Given the description of an element on the screen output the (x, y) to click on. 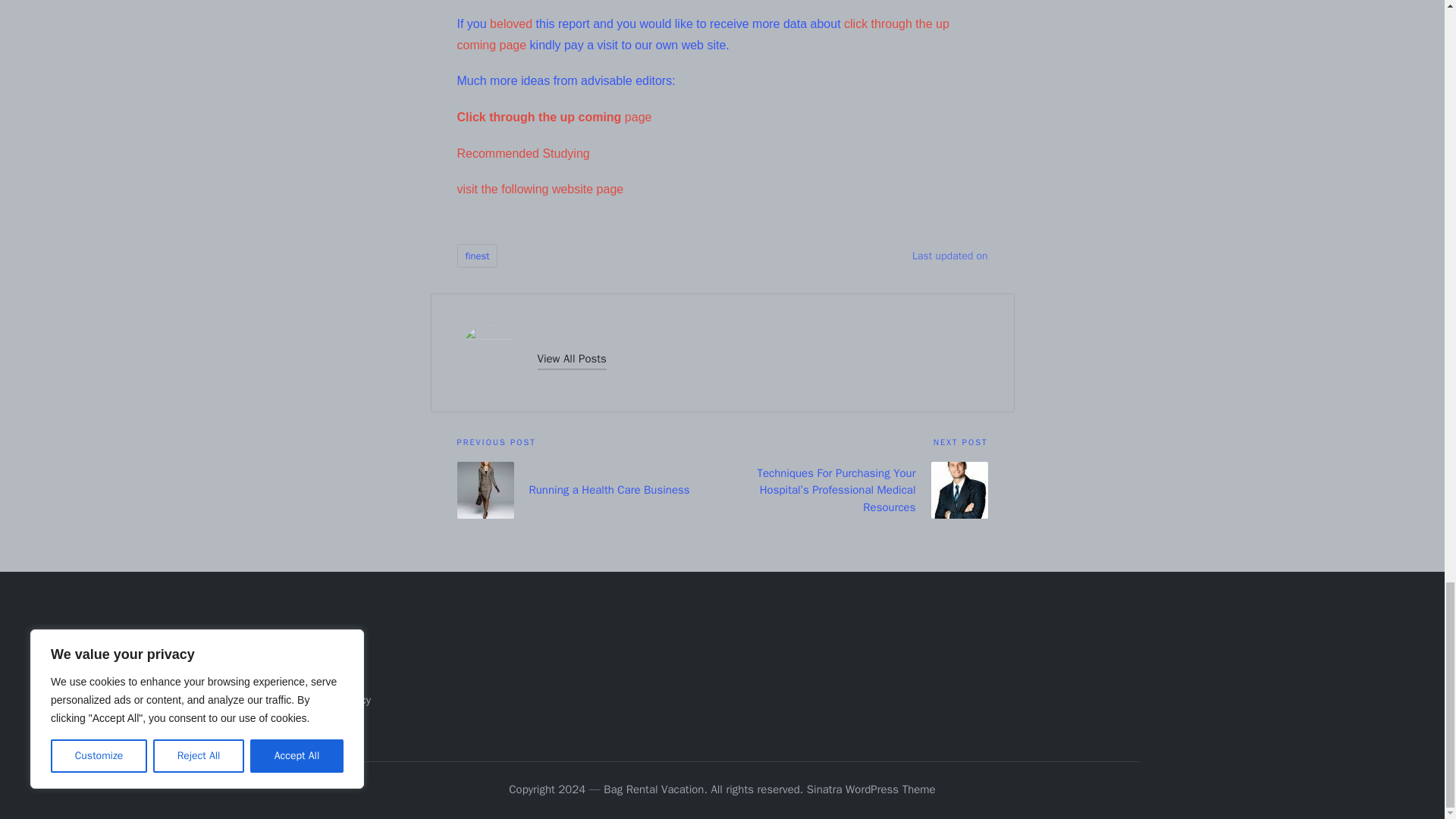
click through the up coming page (703, 34)
Recommended Studying (523, 153)
finest (477, 255)
Privacy Policy (337, 699)
beloved (510, 23)
View All Posts (571, 358)
Running a Health Care Business (589, 489)
About (318, 650)
Contact (323, 674)
visit the following website page (540, 188)
Click through the up coming page (553, 116)
Sinatra WordPress Theme (871, 790)
